Given the description of an element on the screen output the (x, y) to click on. 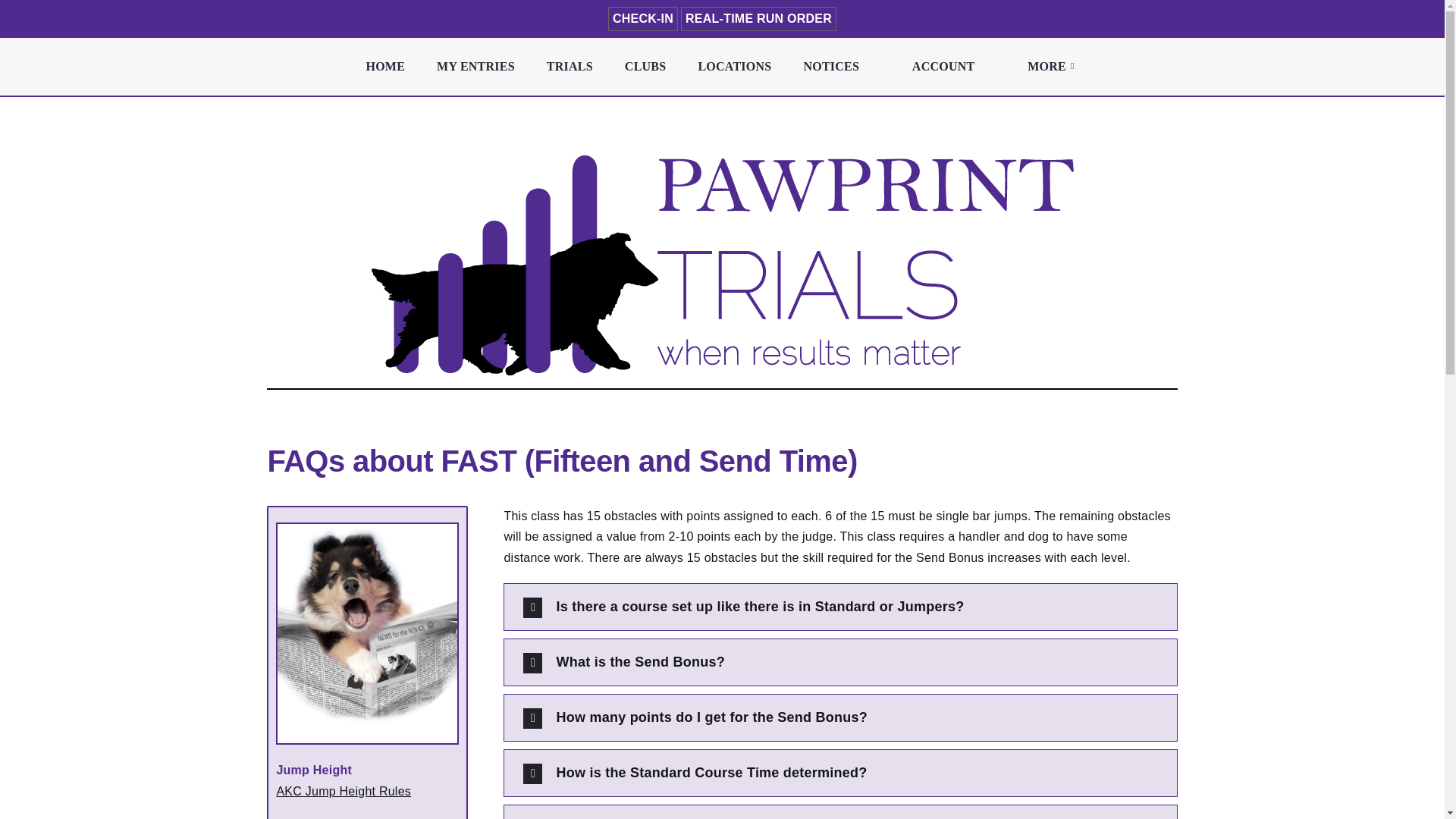
Can I get a title in FAST? (839, 812)
How is the Standard Course Time determined? (839, 773)
CHECK-IN (643, 18)
LOCATIONS (734, 66)
ACCOUNT (943, 66)
What is the Send Bonus? (839, 662)
REAL-TIME RUN ORDER (758, 18)
CLUBS (645, 66)
NOTICES (830, 66)
